Given the description of an element on the screen output the (x, y) to click on. 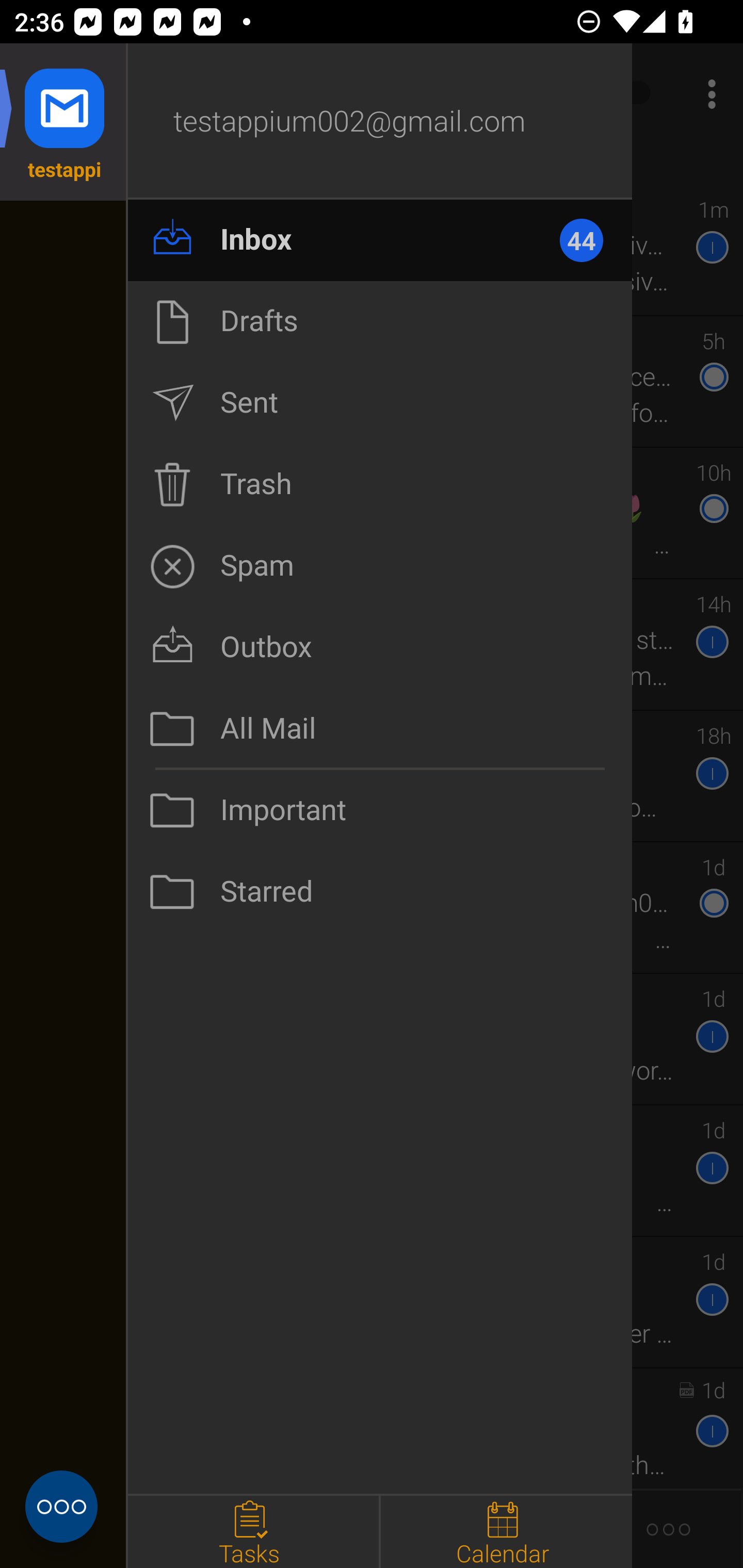
Navigate up (81, 93)
testappium002@gmail.com (379, 121)
More Options (706, 93)
Updated 2:36 PM (371, 164)
Inbox 44 (379, 239)
44 (590, 239)
Drafts (379, 321)
Sent (379, 402)
Trash (379, 484)
Spam (379, 565)
Outbox (379, 647)
All Mail (379, 728)
Important (379, 810)
Starred (379, 891)
Tasks (252, 1531)
